Given the description of an element on the screen output the (x, y) to click on. 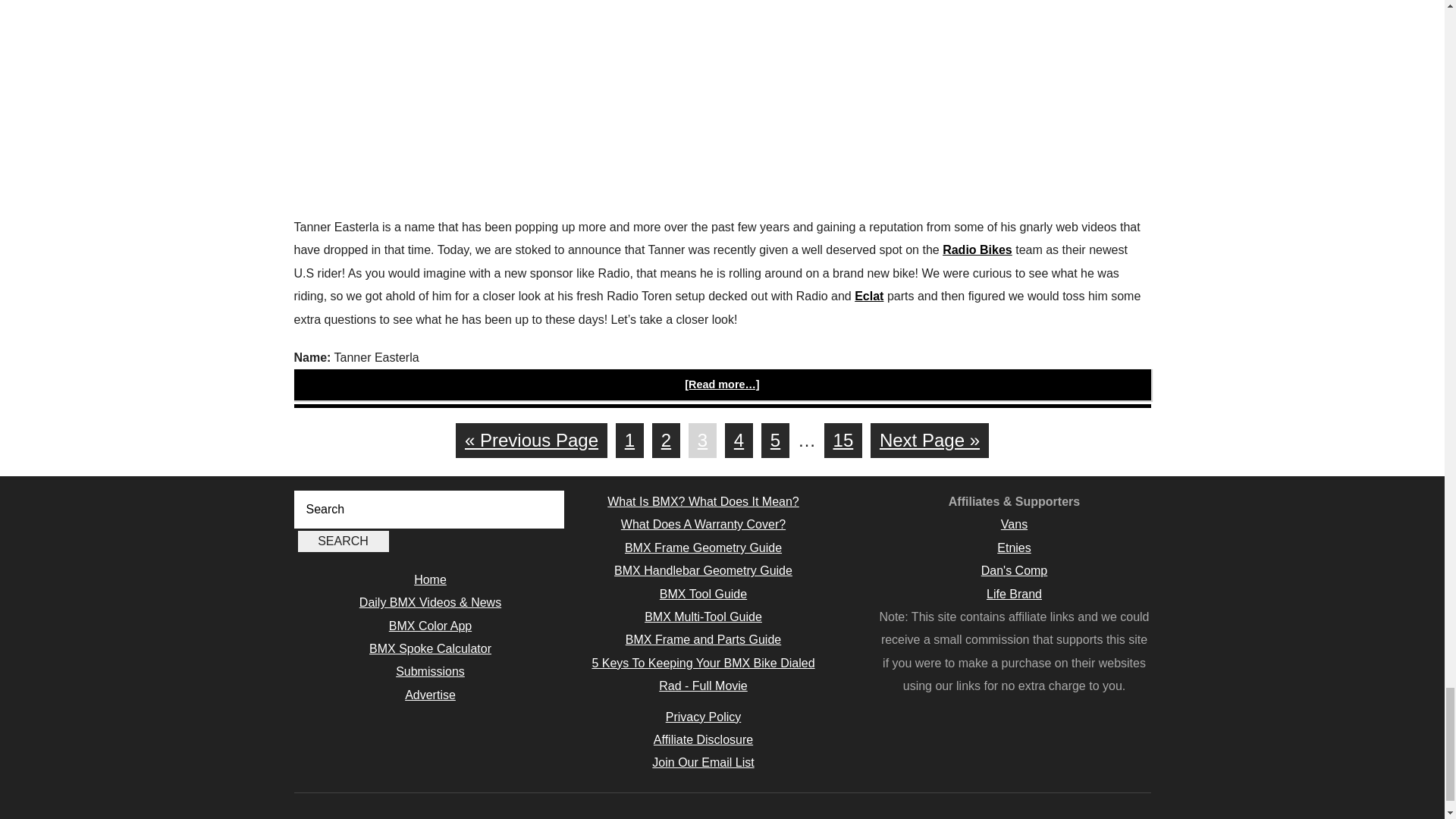
Search (342, 541)
Search (342, 541)
